Given the description of an element on the screen output the (x, y) to click on. 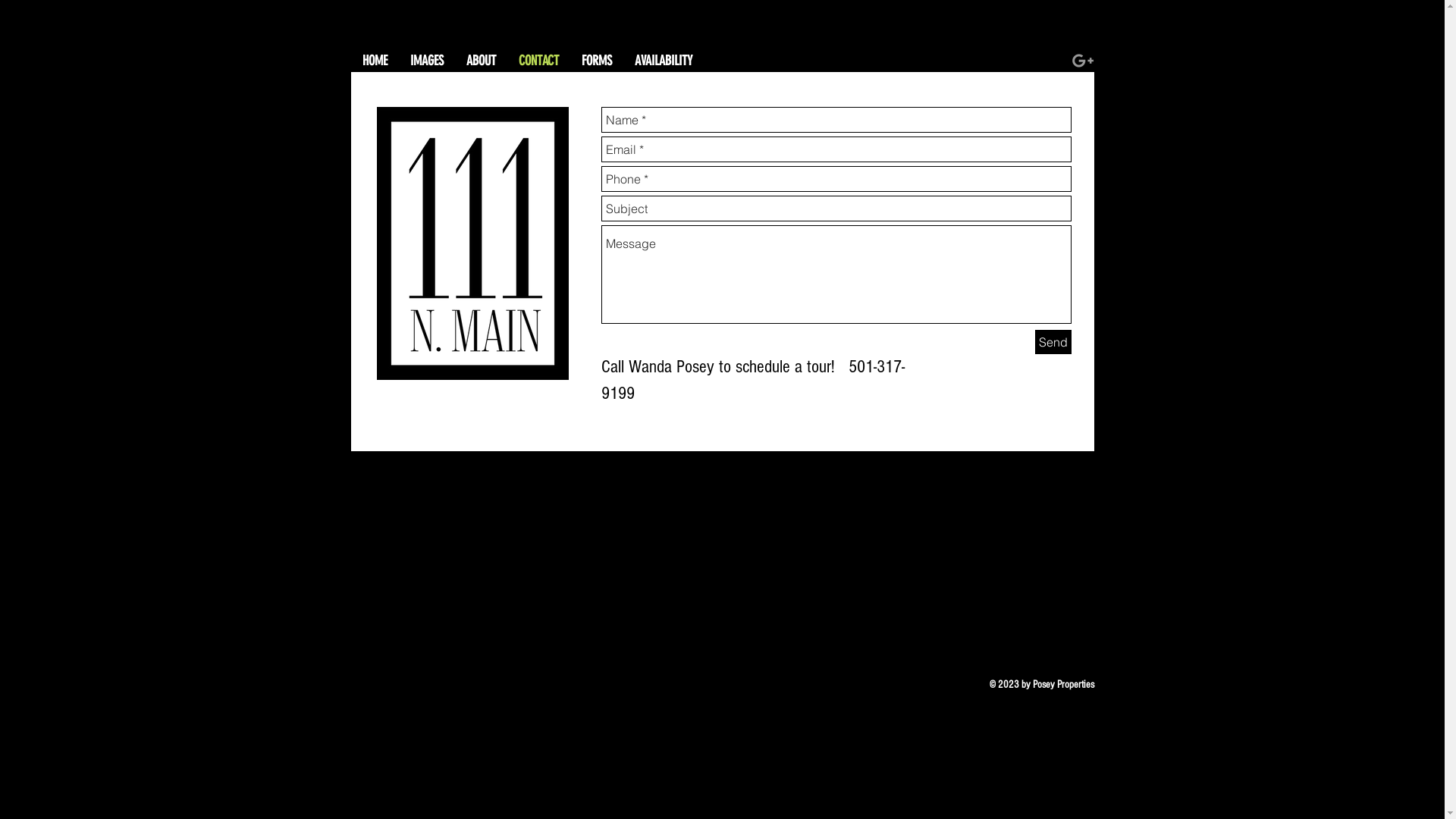
HOME Element type: text (374, 60)
ABOUT Element type: text (481, 60)
FORMS Element type: text (596, 60)
Send Element type: text (1052, 341)
CONTACT Element type: text (537, 60)
IMAGES Element type: text (426, 60)
Google Maps Element type: hover (721, 571)
AVAILABILITY Element type: text (663, 60)
